Given the description of an element on the screen output the (x, y) to click on. 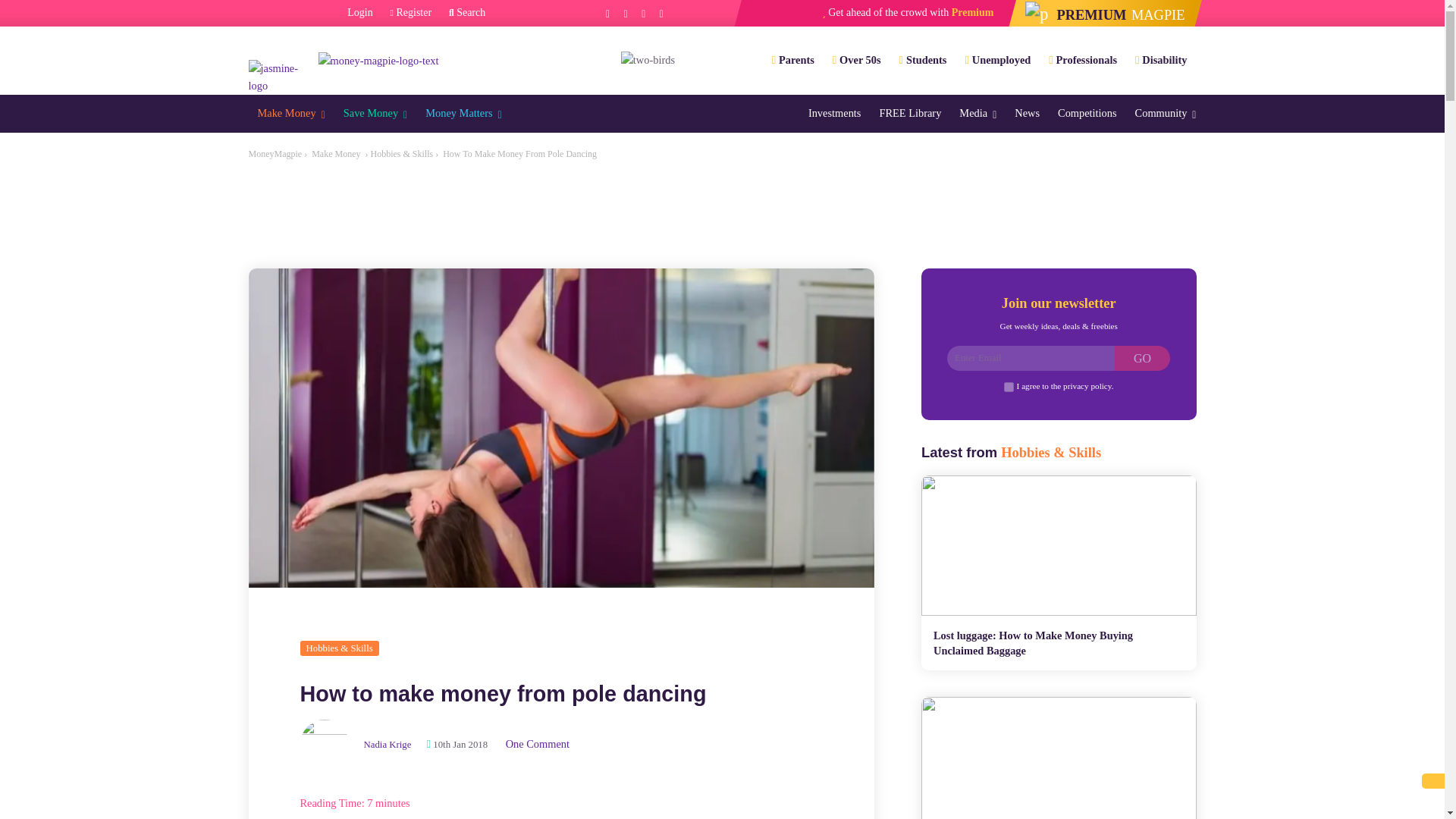
1 (1008, 387)
Go to MoneyMagpie. (275, 153)
Search (466, 12)
Register (411, 12)
Login (358, 12)
